Given the description of an element on the screen output the (x, y) to click on. 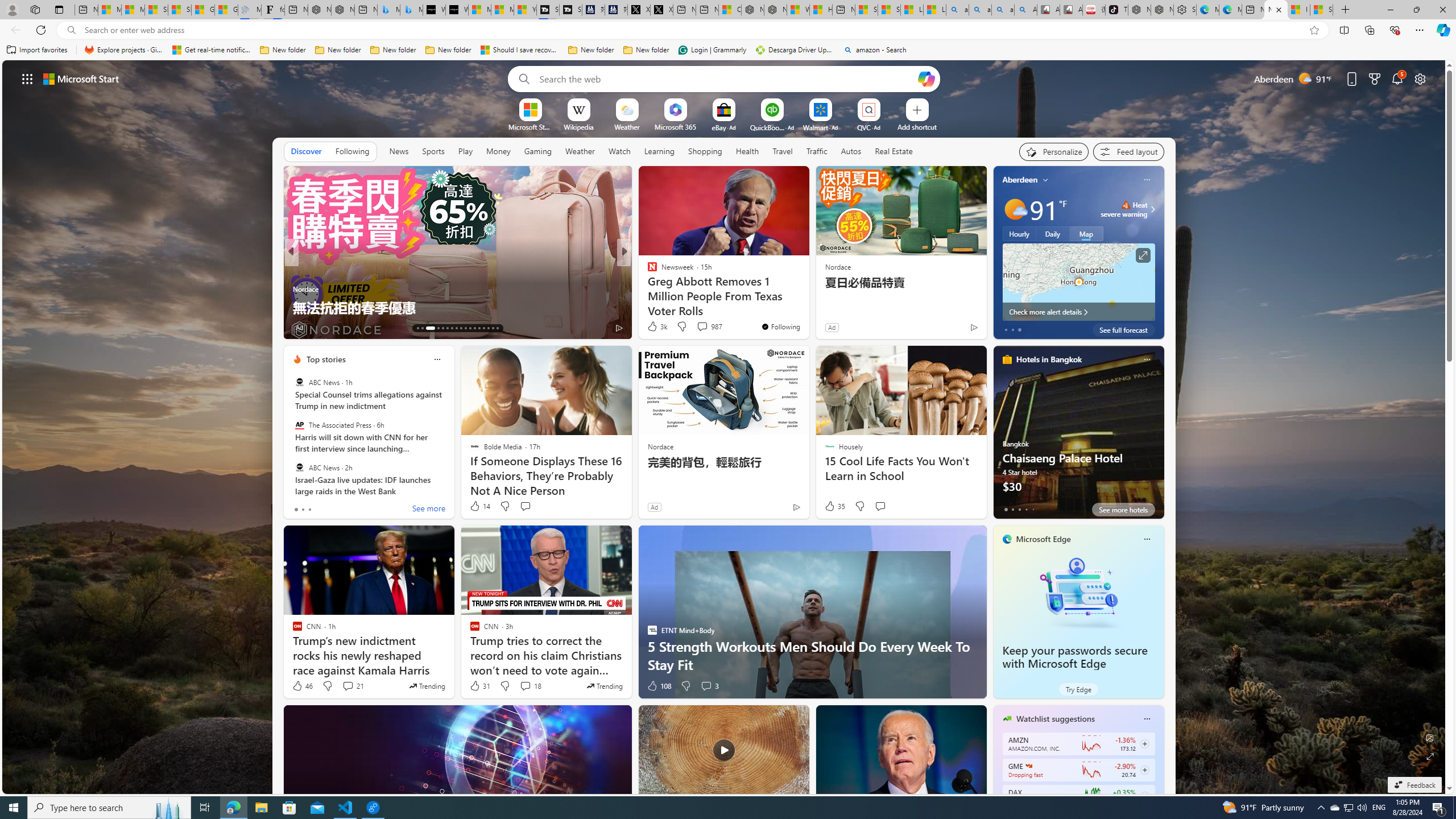
Microsoft Bing Travel - Stays in Bangkok, Bangkok, Thailand (388, 9)
AutomationID: tab-15 (426, 328)
Real Estate (893, 151)
3k Like (656, 326)
Add a site (916, 126)
tab-3 (1025, 509)
Wikipedia (578, 126)
